Given the description of an element on the screen output the (x, y) to click on. 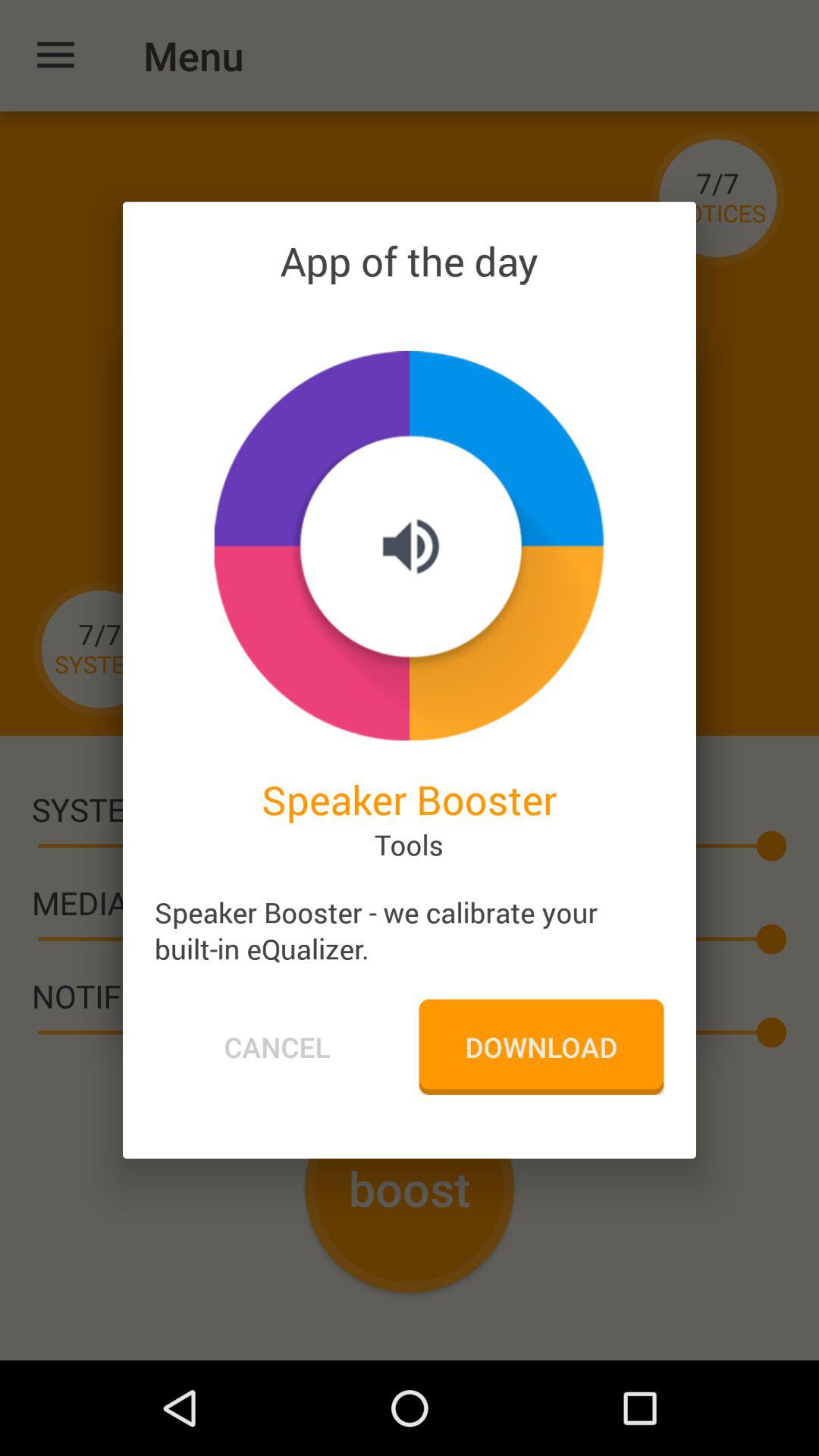
select the icon next to the cancel icon (541, 1046)
